Given the description of an element on the screen output the (x, y) to click on. 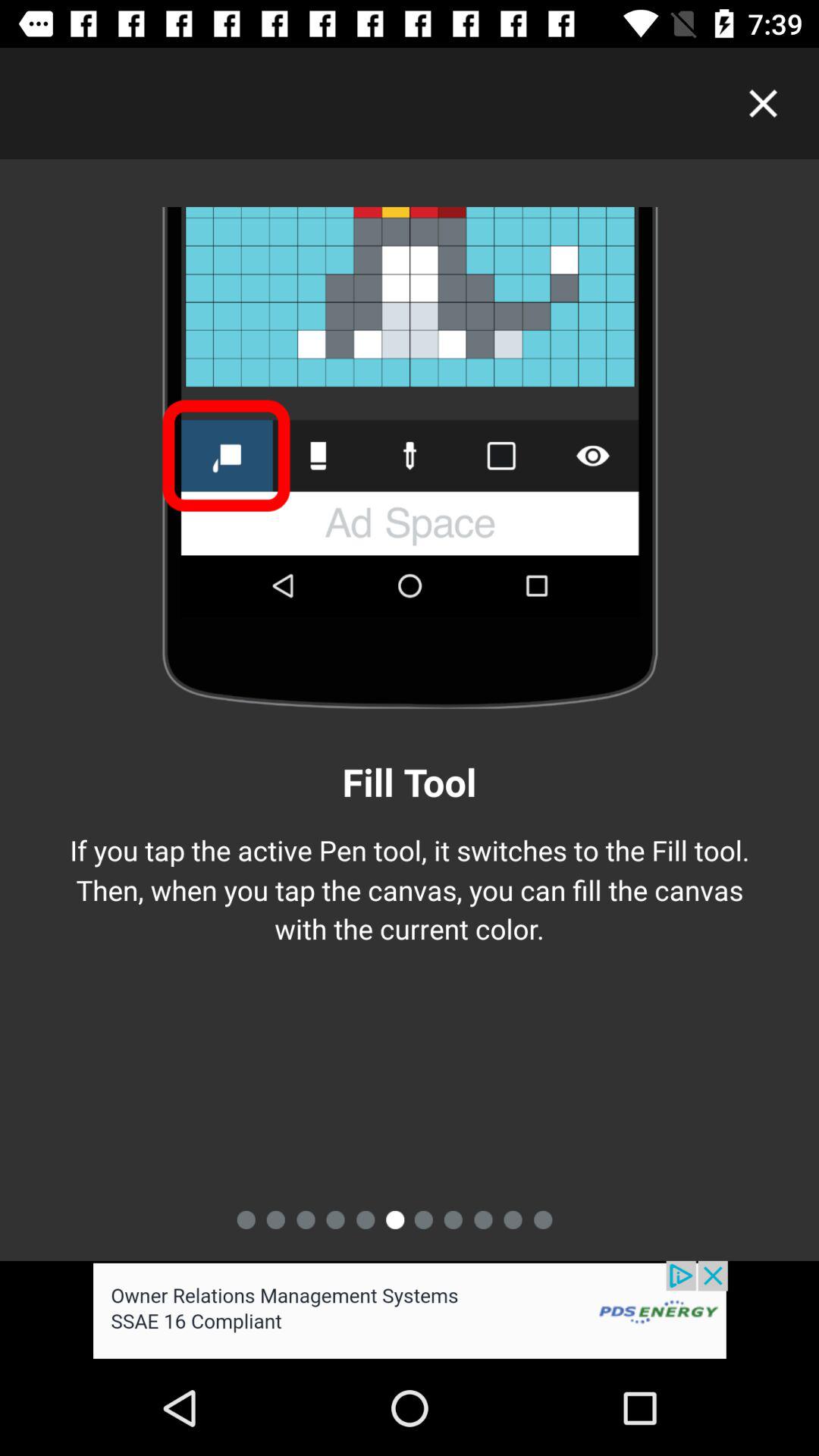
close app (763, 103)
